Given the description of an element on the screen output the (x, y) to click on. 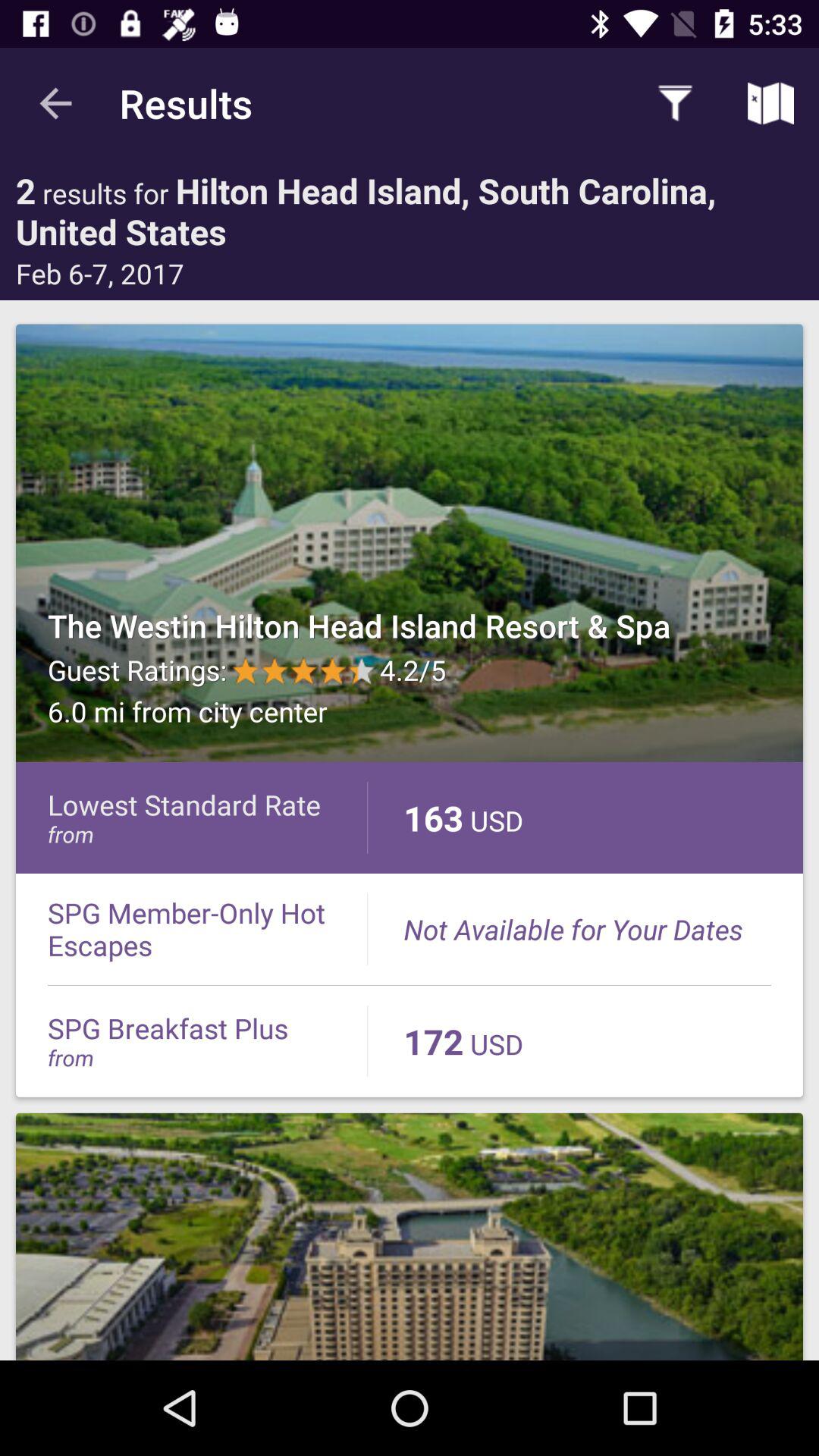
click link (409, 1236)
